Given the description of an element on the screen output the (x, y) to click on. 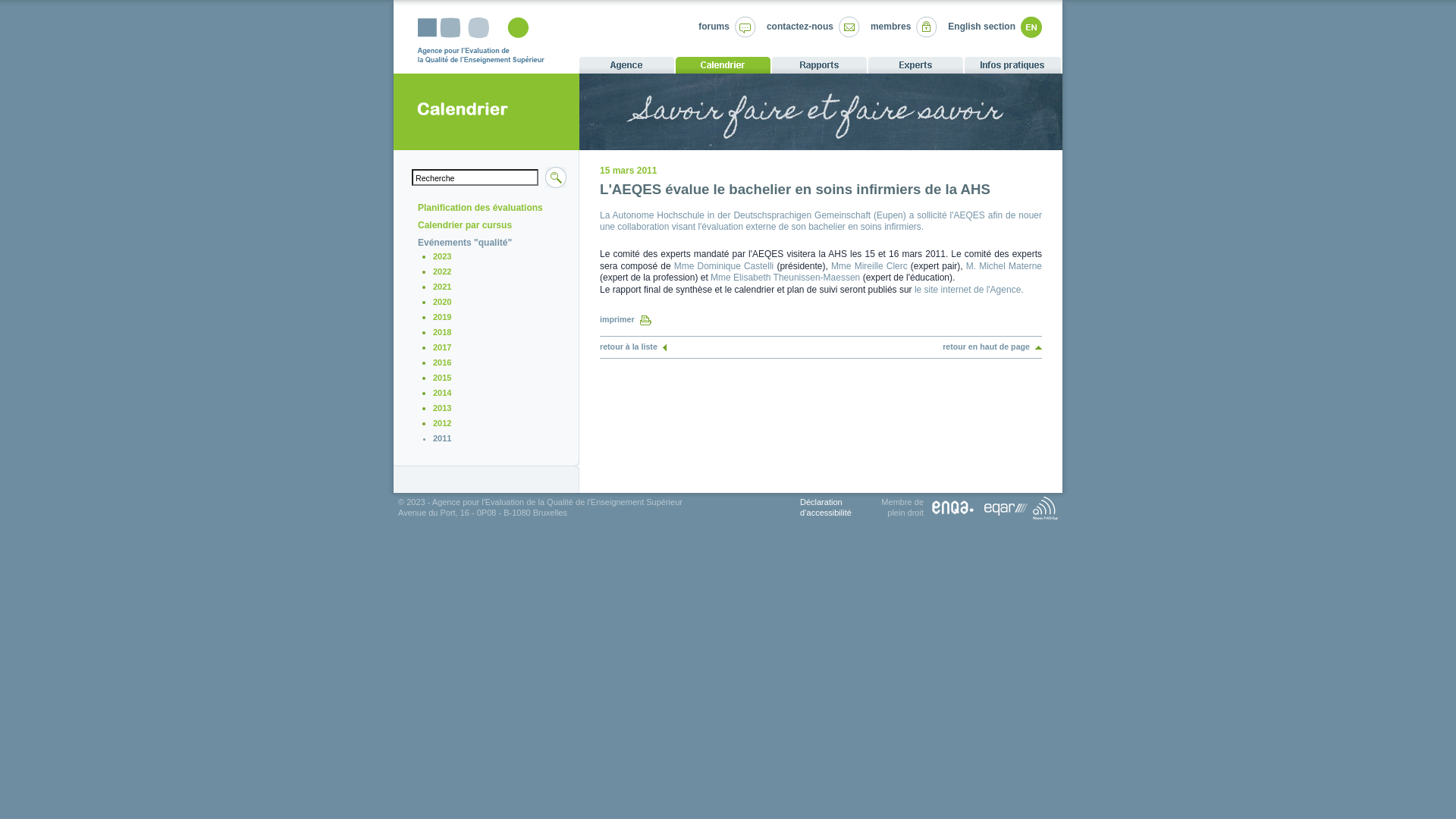
contactez-nous Element type: text (799, 26)
2021 Element type: text (442, 286)
M. Michel Materne Element type: text (1003, 265)
2014 Element type: text (442, 392)
2020 Element type: text (442, 301)
2013 Element type: text (442, 407)
2022 Element type: text (442, 271)
2015 Element type: text (442, 377)
membres Element type: text (890, 26)
2016 Element type: text (442, 362)
Mme Dominique Castelli Element type: text (724, 265)
2023 Element type: text (442, 255)
Mme Elisabeth Theunissen-Maessen Element type: text (784, 277)
Calendrier par cursus Element type: text (464, 224)
forums Element type: text (713, 26)
2019 Element type: text (442, 316)
Mme Mireille Clerc Element type: text (869, 265)
2017 Element type: text (442, 346)
2018 Element type: text (442, 331)
English section Element type: text (981, 26)
imprimer Element type: text (625, 318)
2012 Element type: text (442, 422)
retour en haut de page Element type: text (991, 346)
le site internet de l'Agence. Element type: text (968, 289)
